Given the description of an element on the screen output the (x, y) to click on. 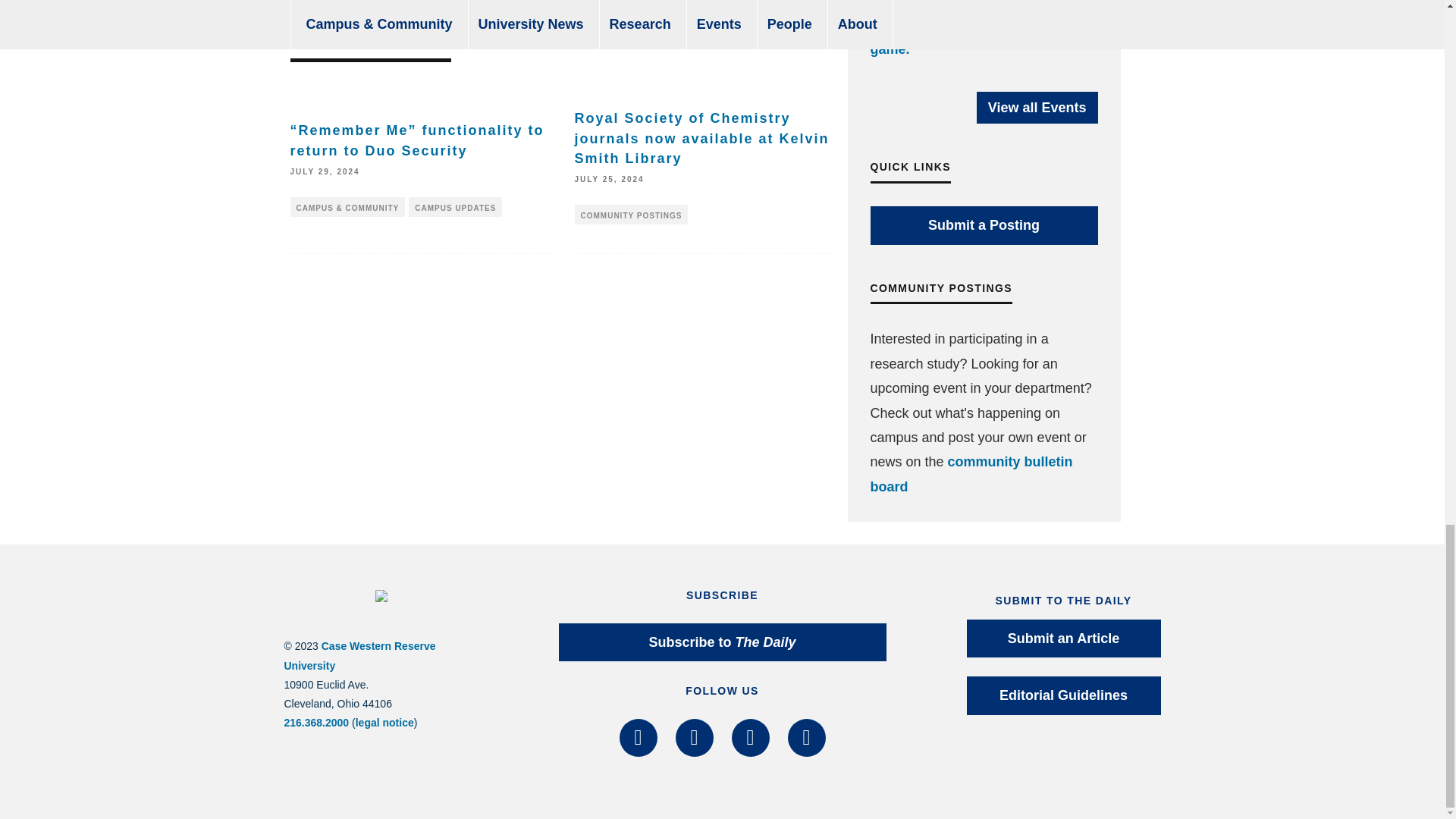
CAMPUS UPDATES (455, 207)
STUDENT ORGANIZATIONS (545, 3)
ANNUAL GIVING (334, 3)
COMMUNITY POSTINGS (631, 214)
CAMPUSWIDE (427, 3)
